Given the description of an element on the screen output the (x, y) to click on. 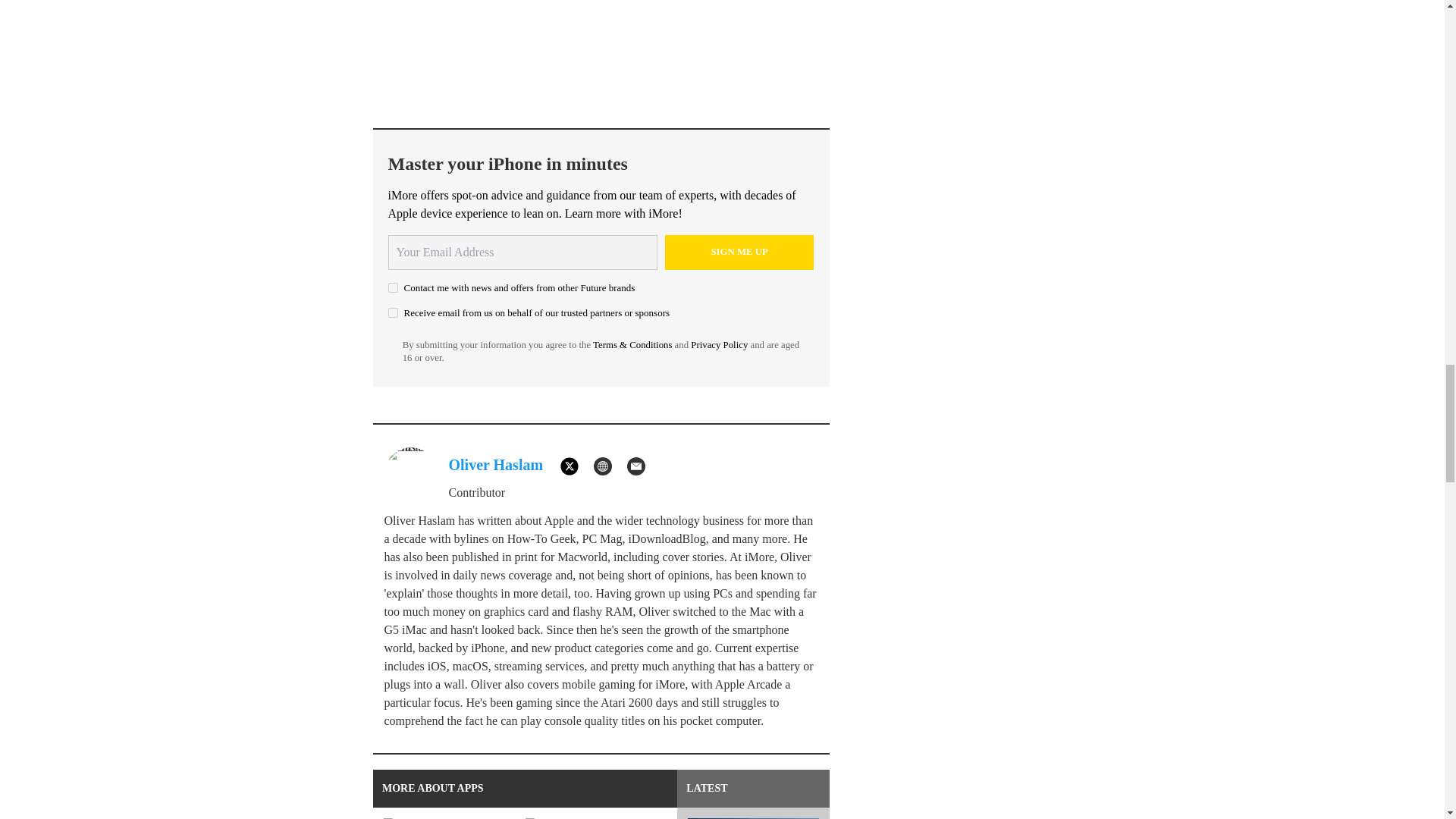
on (392, 286)
on (392, 312)
Sign me up (739, 252)
